Given the description of an element on the screen output the (x, y) to click on. 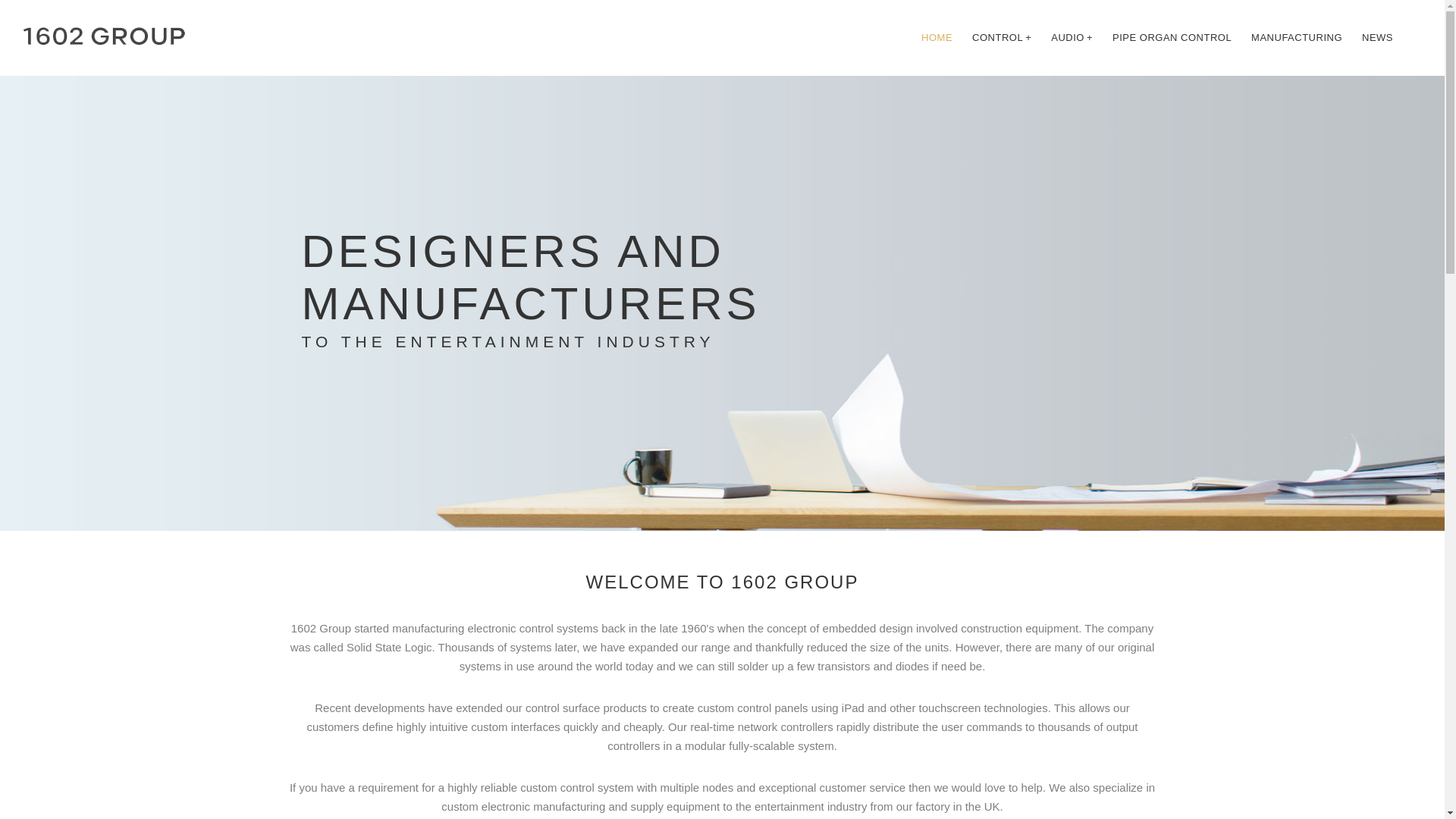
HOME Element type: text (936, 37)
MANUFACTURING Element type: text (1296, 37)
NEWS Element type: text (1377, 37)
PIPE ORGAN CONTROL Element type: text (1171, 37)
AUDIO+ Element type: text (1071, 37)
CONTROL+ Element type: text (1001, 37)
